Given the description of an element on the screen output the (x, y) to click on. 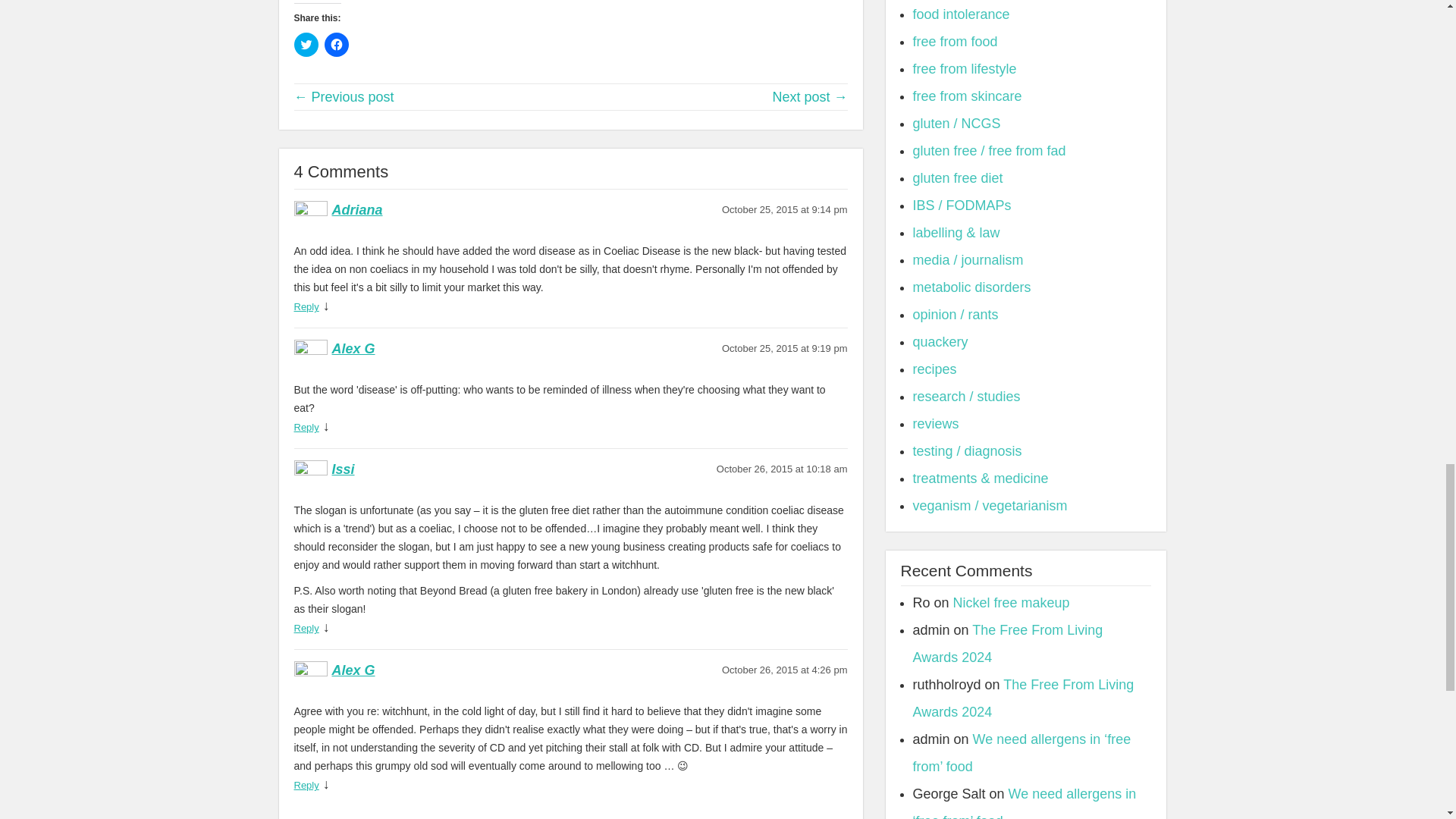
Click to share on Facebook (336, 44)
Click to share on Twitter (306, 44)
The allergy fakers aren't all allergy fakers (809, 96)
Gluten and dairy are not allergens (344, 96)
